Given the description of an element on the screen output the (x, y) to click on. 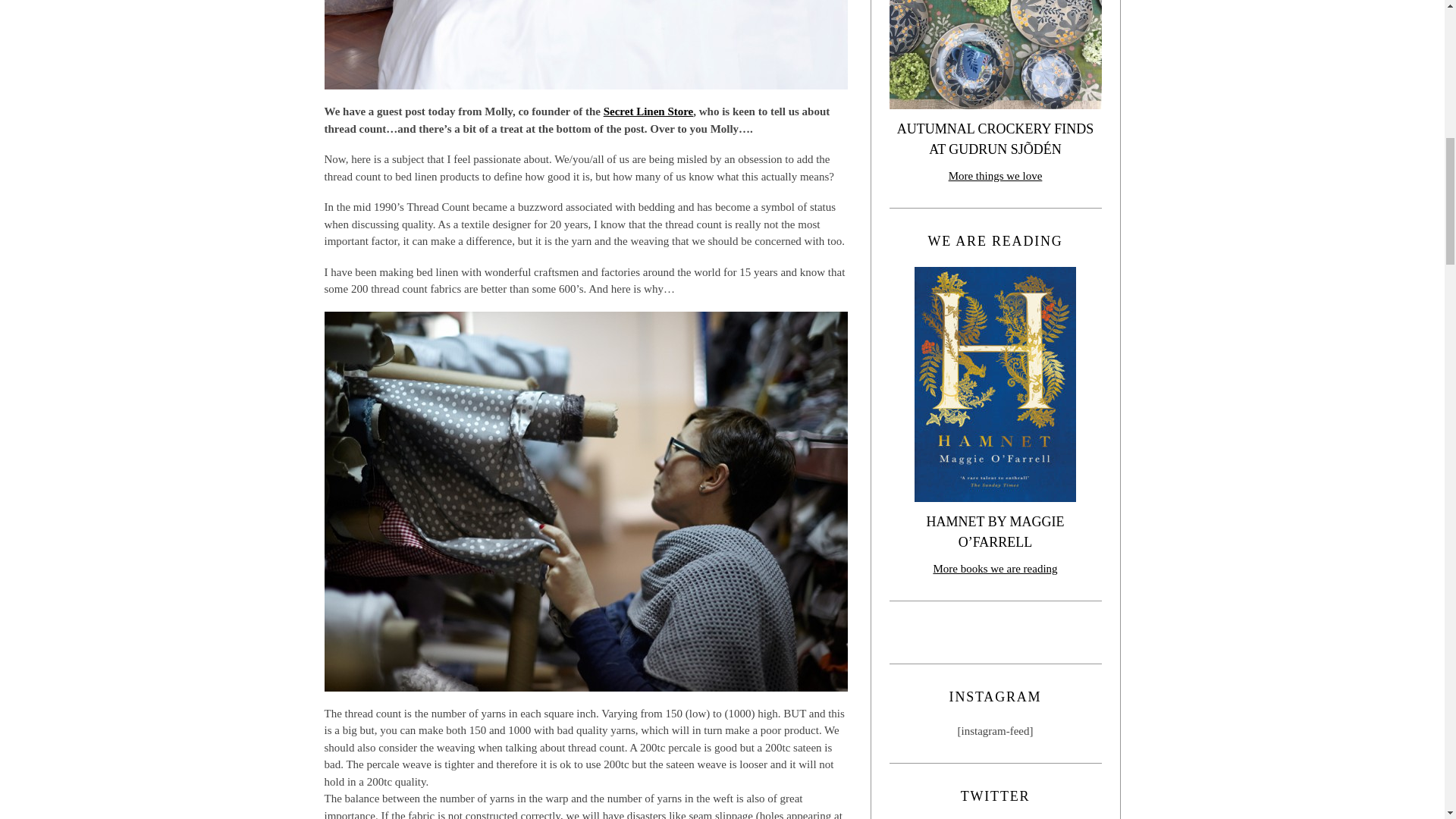
Secret Linen Store (649, 111)
